Given the description of an element on the screen output the (x, y) to click on. 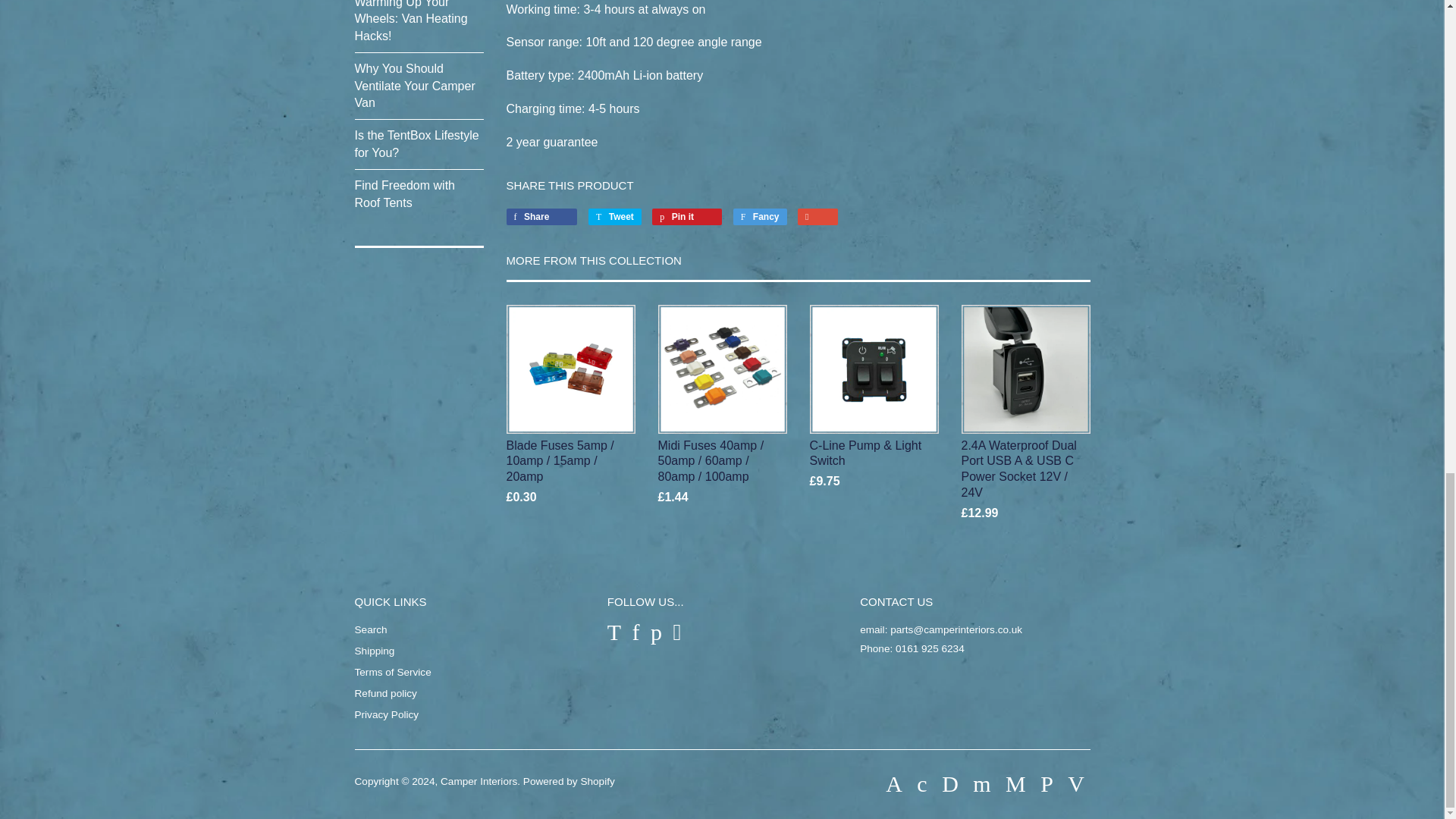
Pin on Pinterest (687, 216)
Share on Facebook (542, 216)
Camper Interiors on Twitter (614, 632)
Add to Fancy (760, 216)
Tweet on Twitter (615, 216)
Camper Interiors on Pinterest (656, 632)
